Given the description of an element on the screen output the (x, y) to click on. 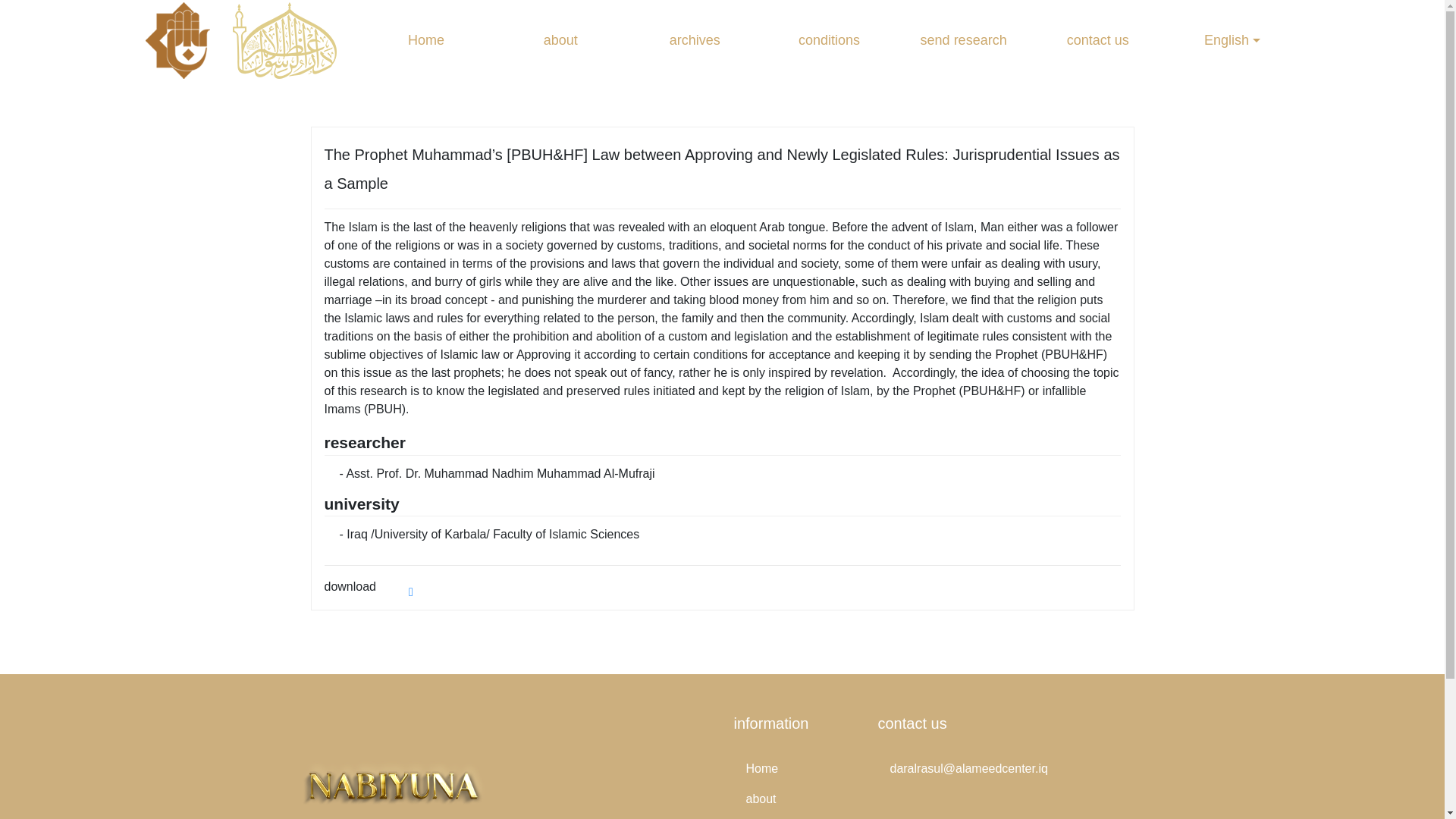
Home (794, 768)
send research (963, 40)
English (1231, 40)
about (560, 40)
conditions (828, 40)
archives (794, 816)
Home (426, 40)
archives (694, 40)
contact us (1097, 40)
about (794, 798)
